Given the description of an element on the screen output the (x, y) to click on. 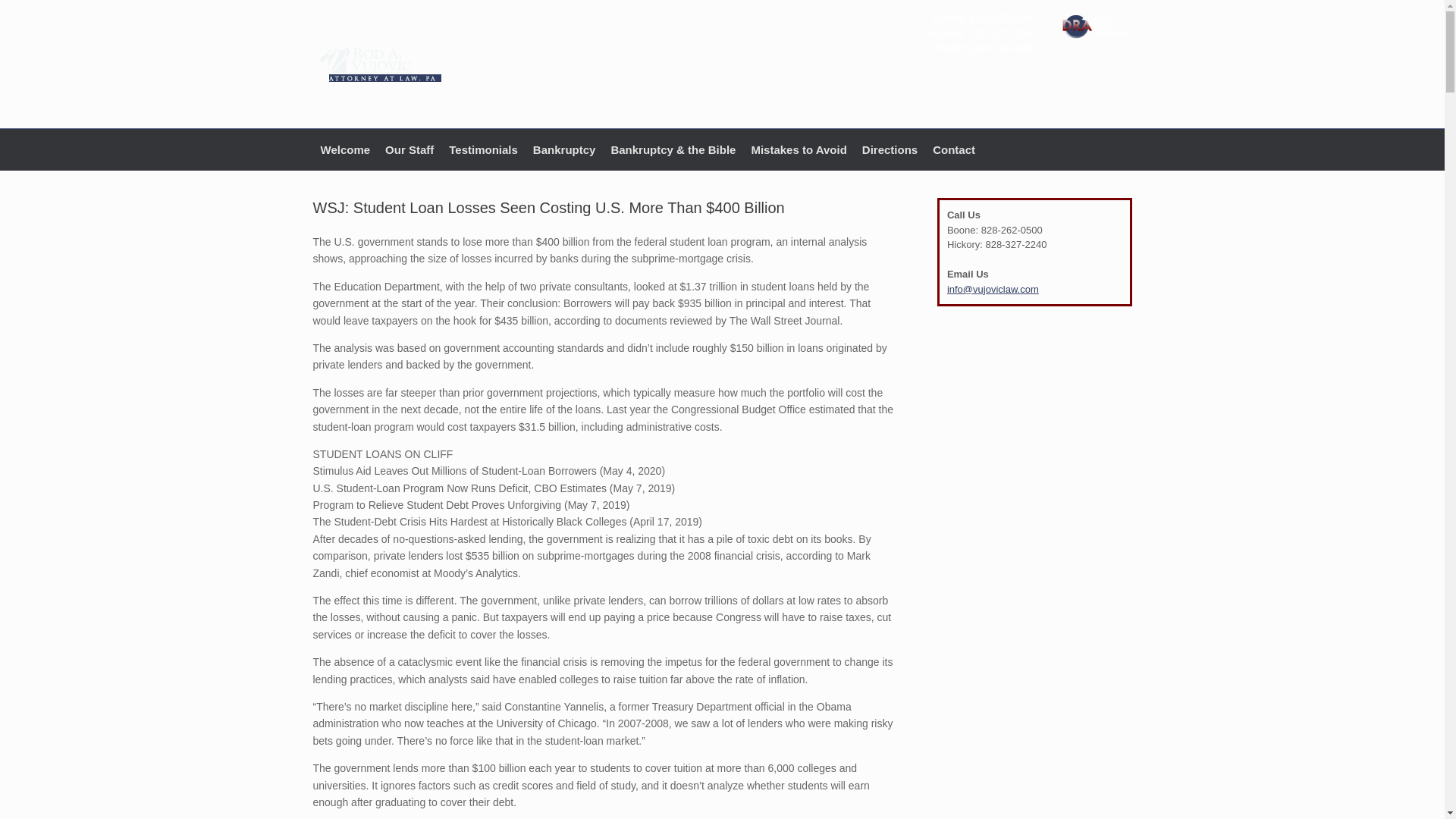
Contact (953, 149)
Welcome (345, 149)
Our Staff (409, 149)
Mistakes to Avoid (797, 149)
Directions (889, 149)
Bankruptcy (564, 149)
Vujovic Law (379, 64)
Testimonials (483, 149)
